Given the description of an element on the screen output the (x, y) to click on. 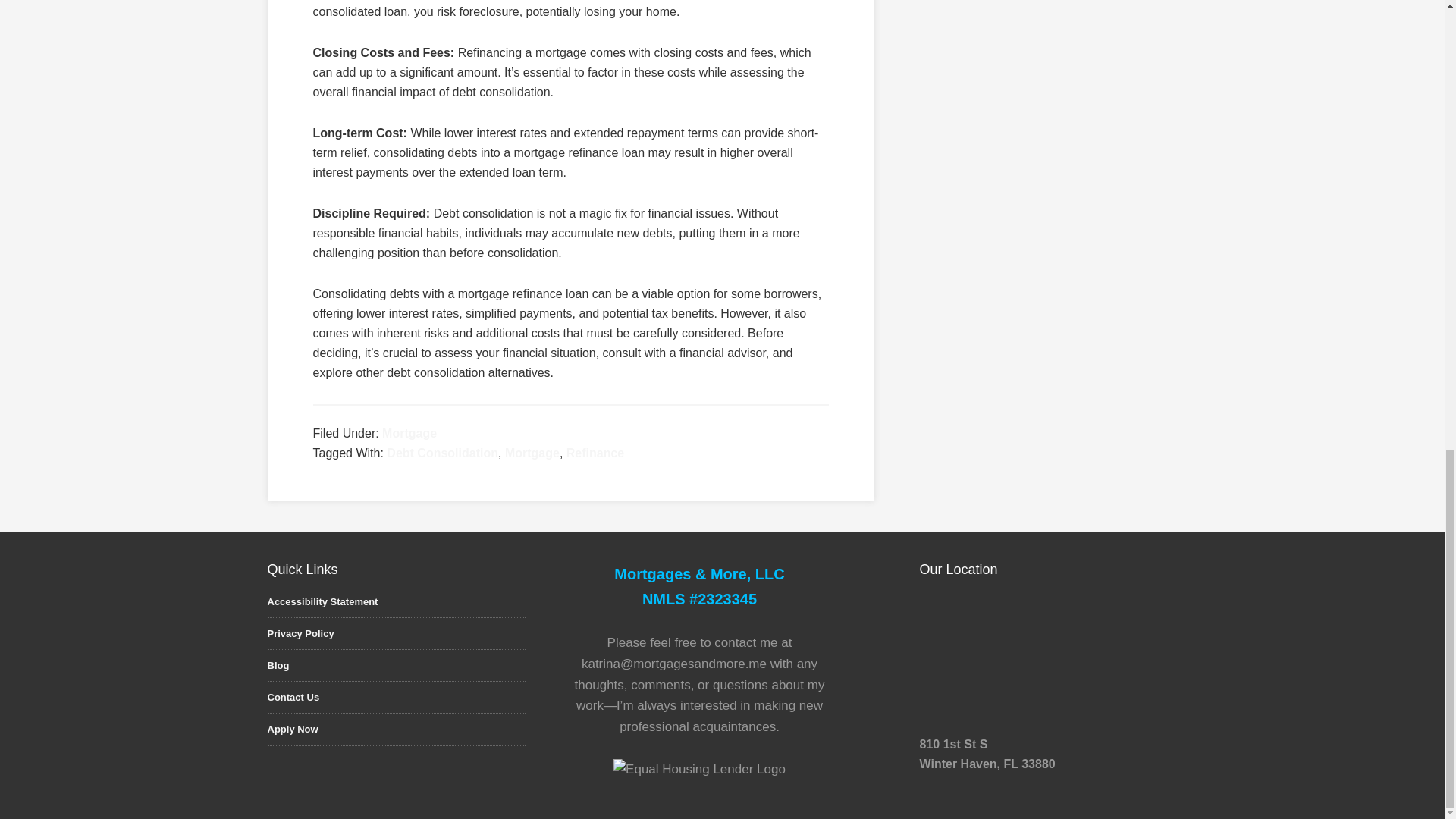
Accessibility Statement (321, 601)
Contact Us (292, 696)
Debt Consolidation (442, 452)
Mortgage (408, 432)
Mortgage (532, 452)
Refinance (595, 452)
Apply Now (291, 728)
Blog (277, 665)
Privacy Policy (299, 633)
